Given the description of an element on the screen output the (x, y) to click on. 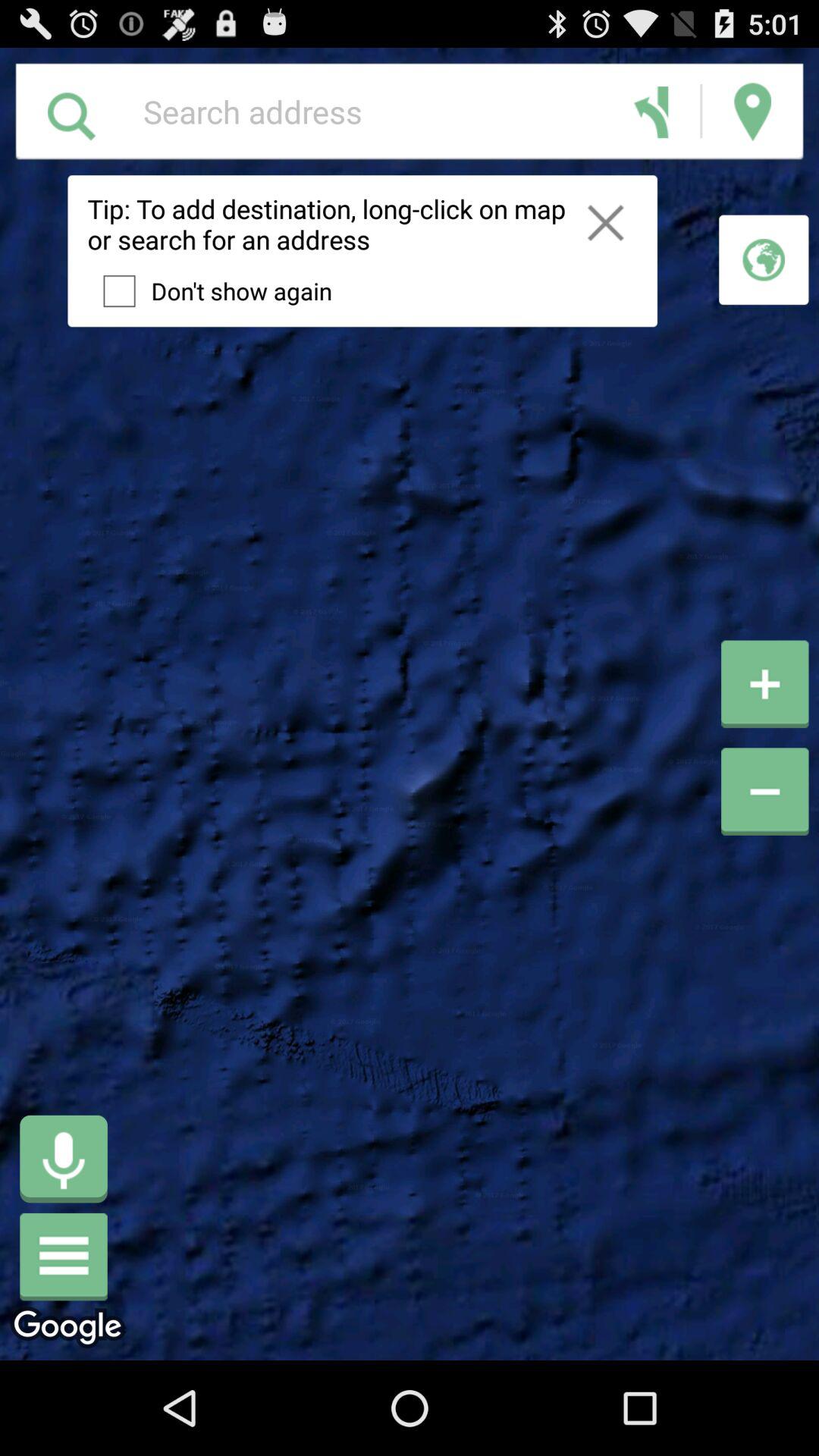
press the item below the tip to add app (209, 291)
